Given the description of an element on the screen output the (x, y) to click on. 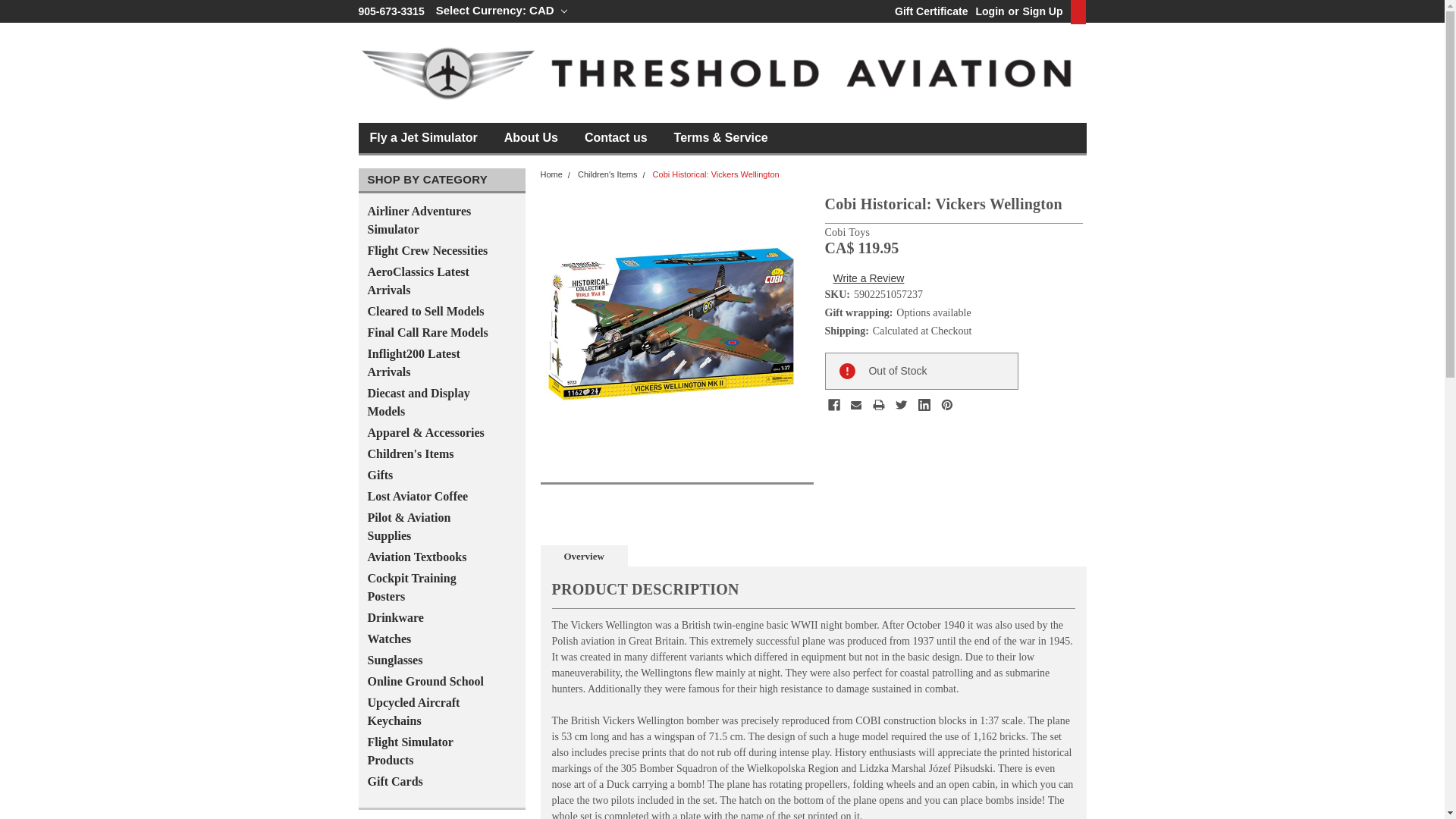
Login (989, 11)
Threshold Aviation Inc. (722, 72)
Select Currency: CAD (501, 10)
Cobi Historical: Vickers Wellington (670, 322)
Gift Certificate (927, 11)
Sign Up (1040, 11)
